Given the description of an element on the screen output the (x, y) to click on. 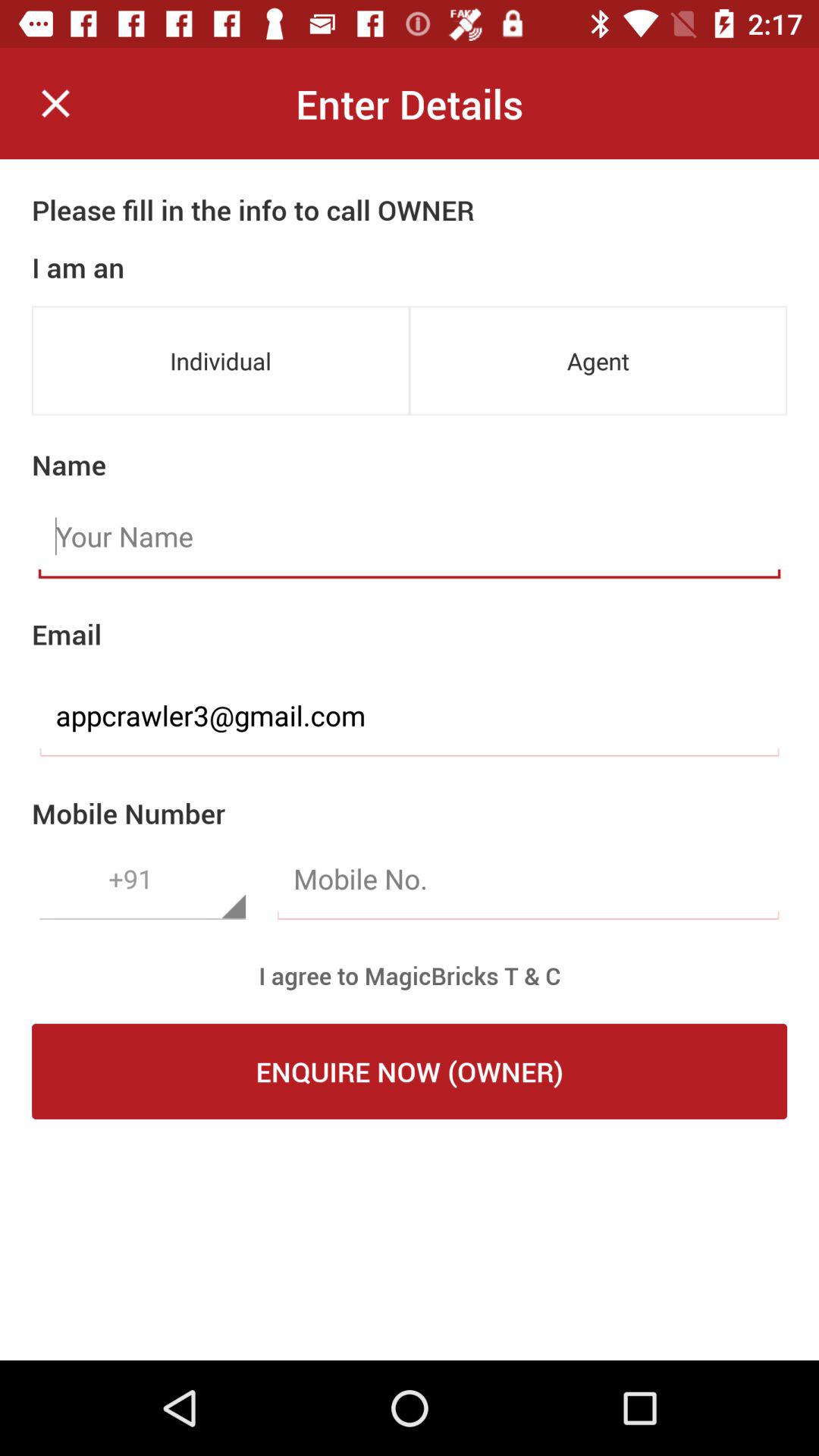
turn off the item below the i agree to (409, 1071)
